Given the description of an element on the screen output the (x, y) to click on. 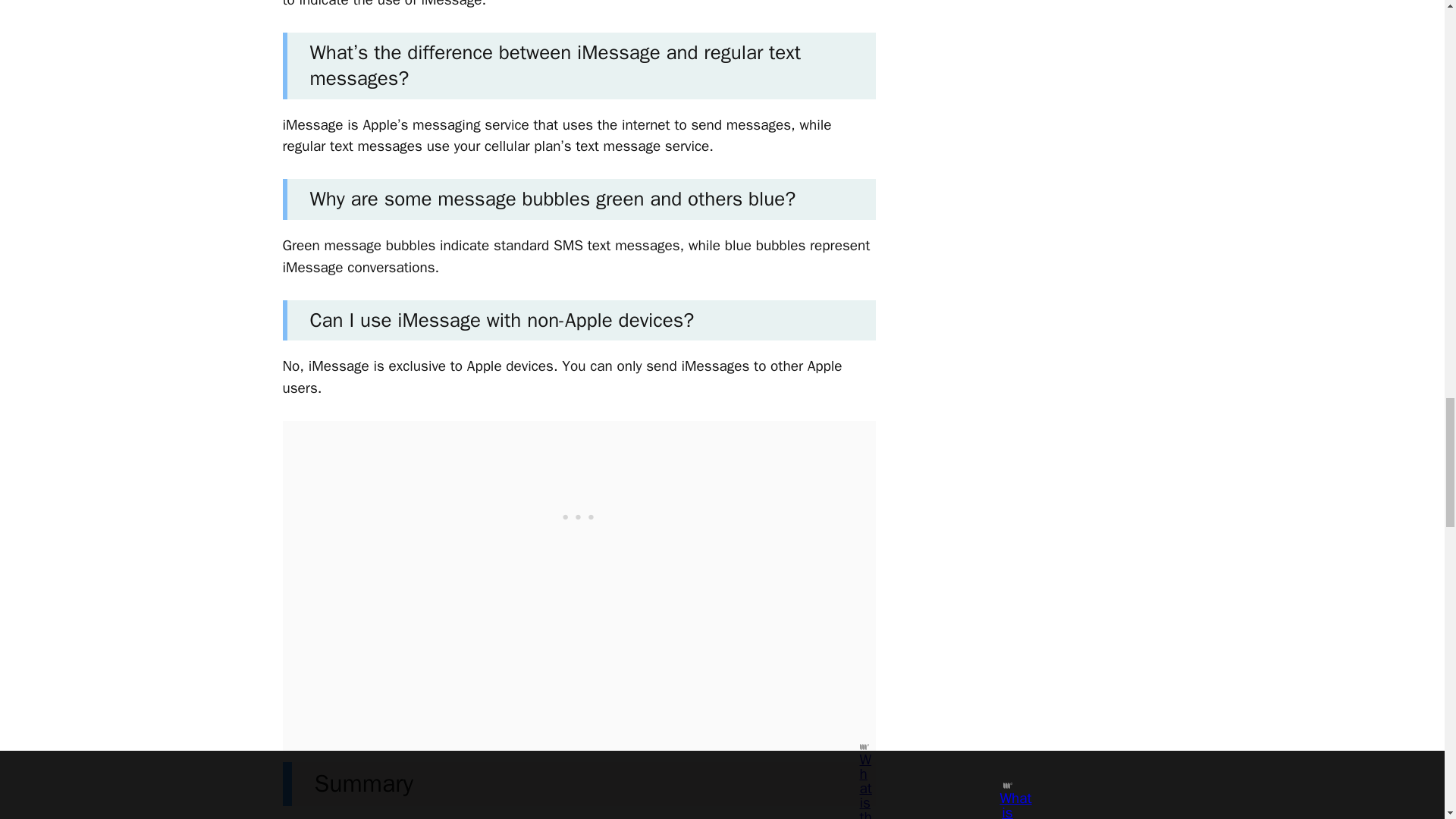
3rd party ad content (579, 515)
